Given the description of an element on the screen output the (x, y) to click on. 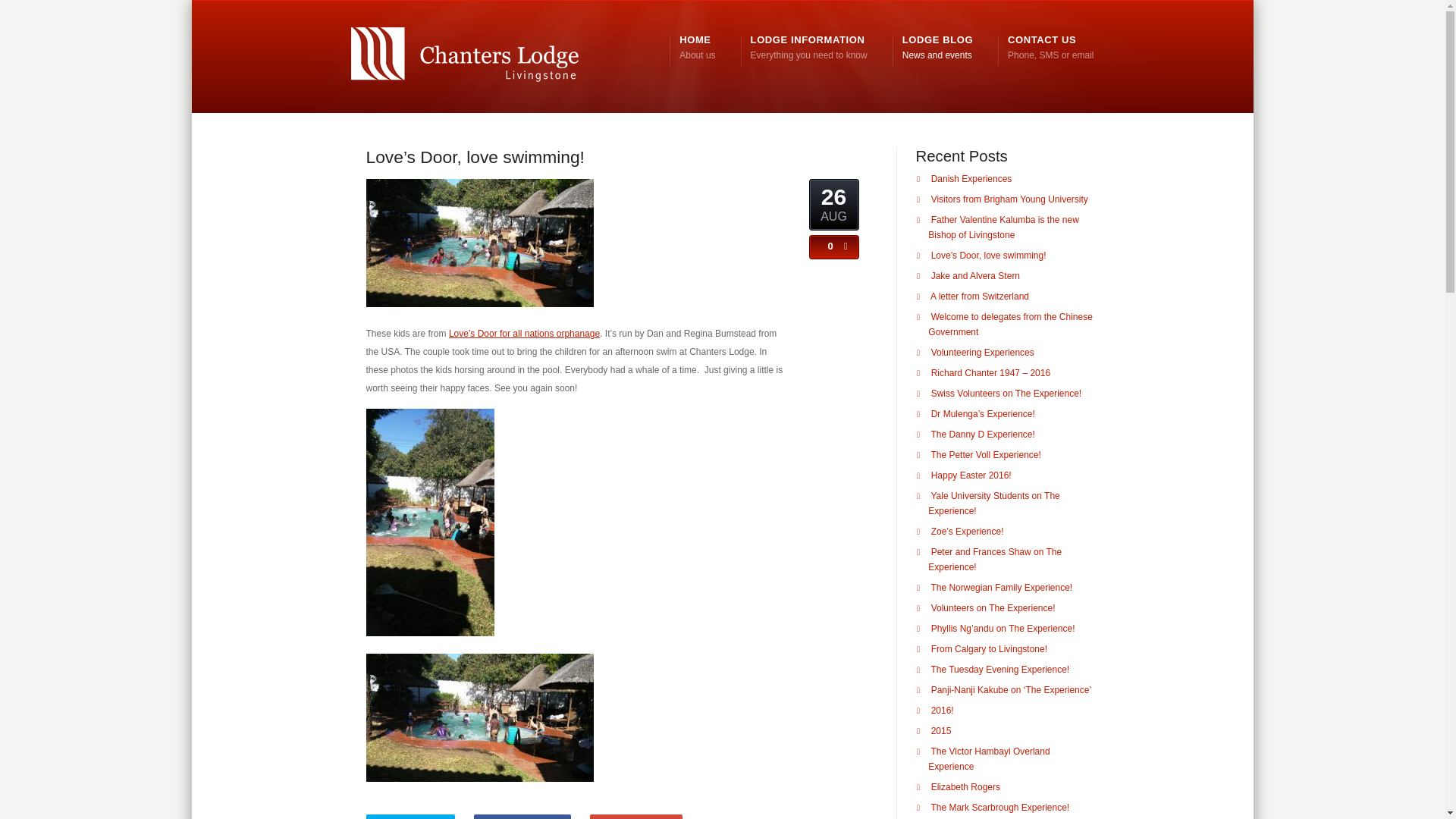
Volunteers on The Experience! (993, 607)
Peter and Frances Shaw on The Experience! (994, 559)
Danish Experiences (971, 178)
The Petter Voll Experience! (985, 454)
Share on Google (635, 816)
Visitors from Brigham Young University (937, 47)
Share on Twitter (1009, 199)
Jake and Alvera Stern (409, 816)
Father Valentine Kalumba is the new Bishop of Livingstone (1050, 47)
Volunteering Experiences (975, 276)
Share on Facebook (1003, 227)
